Given the description of an element on the screen output the (x, y) to click on. 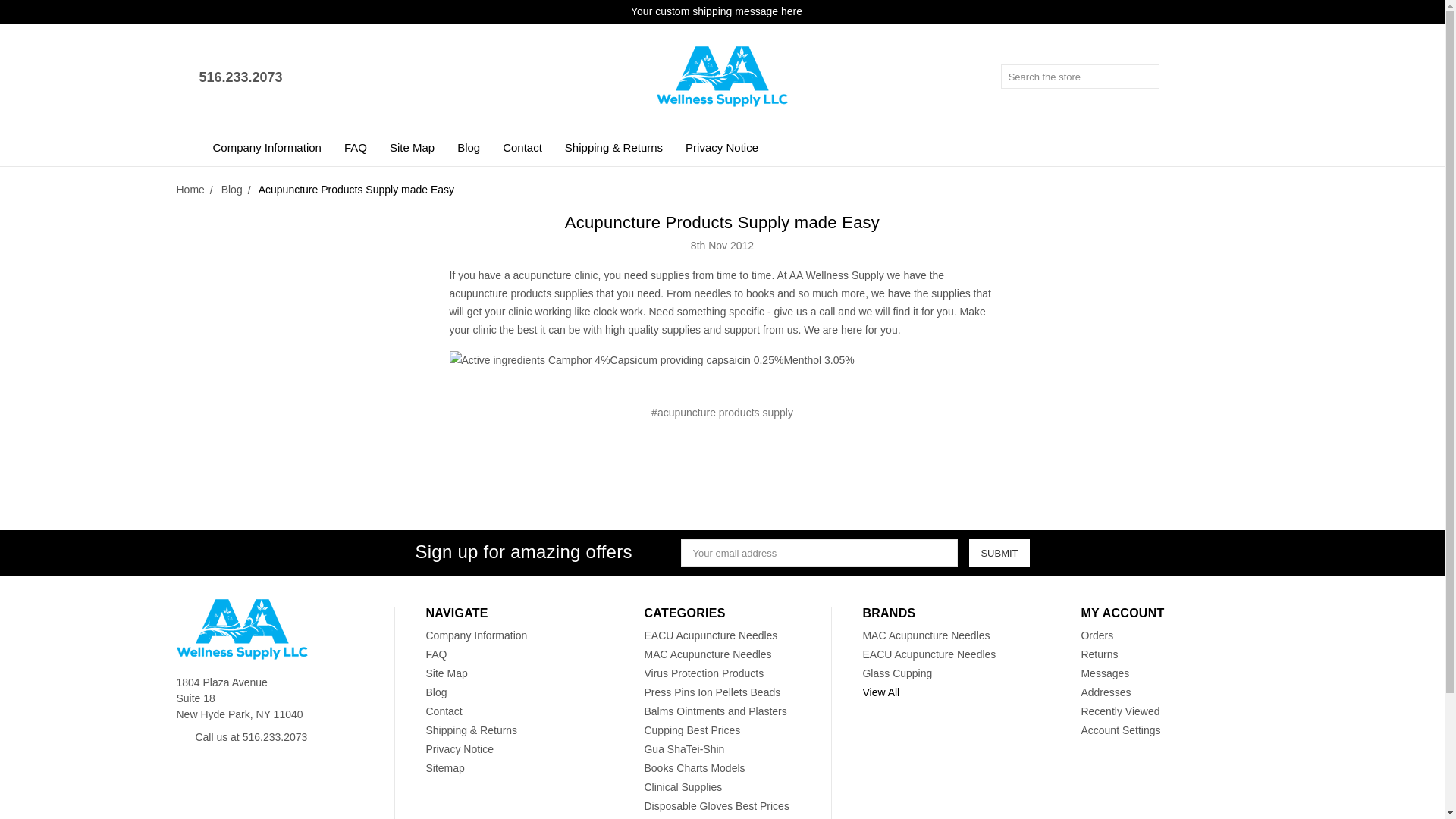
AA Wellness Supply LLC (241, 629)
AA Wellness Supply LLC (721, 76)
Search (1147, 76)
Submit (999, 552)
Search (1147, 76)
Compare (1217, 76)
